Given the description of an element on the screen output the (x, y) to click on. 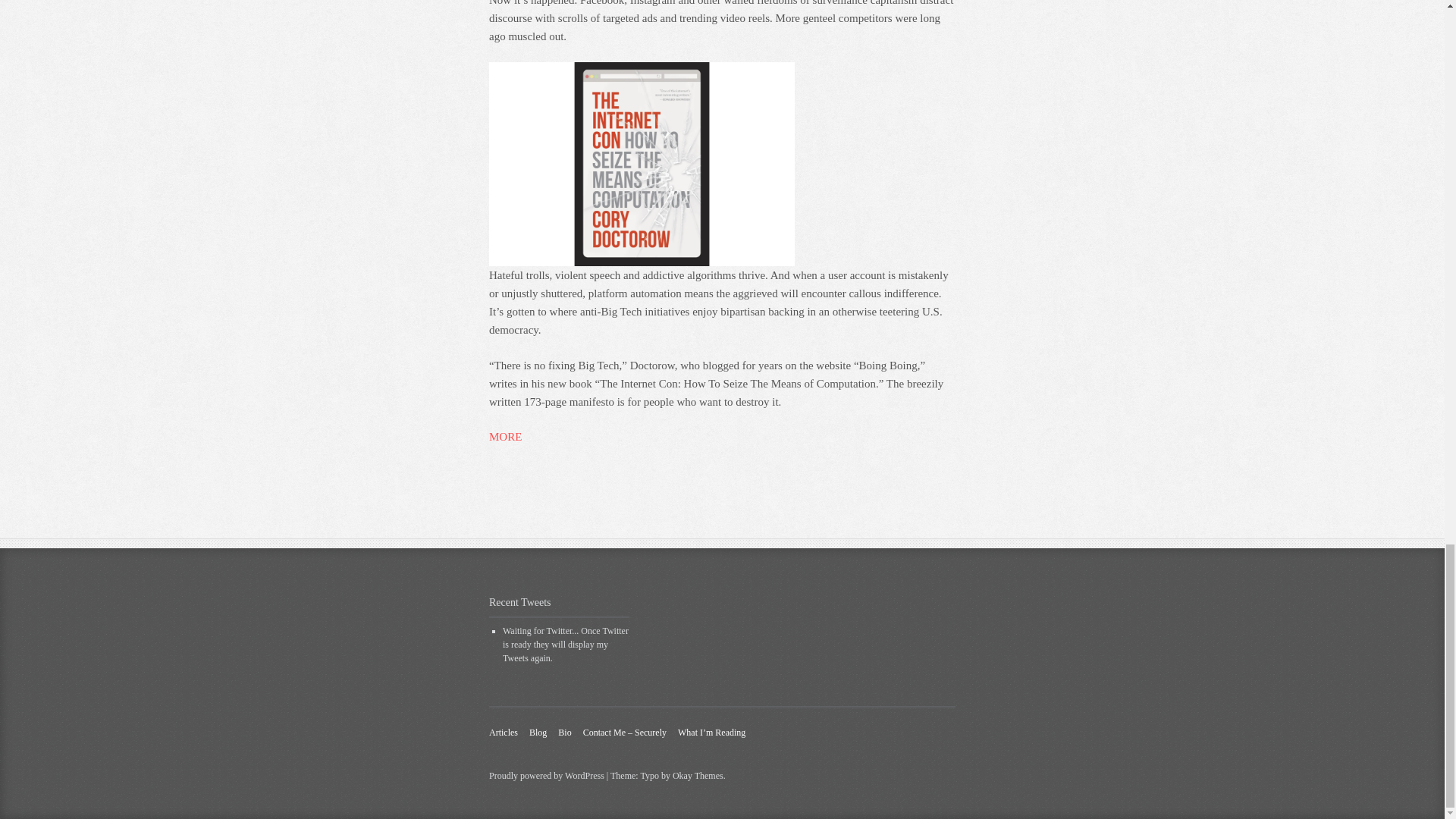
MORE (505, 436)
Articles (503, 732)
Proudly powered by WordPress (546, 775)
Bio (563, 732)
Blog (538, 732)
Okay Themes (697, 775)
